Given the description of an element on the screen output the (x, y) to click on. 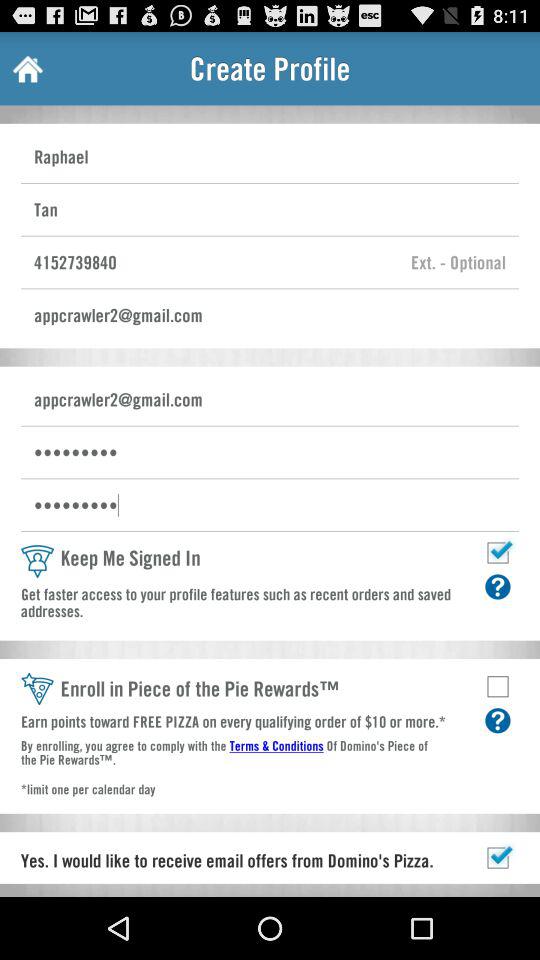
ask a question (497, 586)
